Given the description of an element on the screen output the (x, y) to click on. 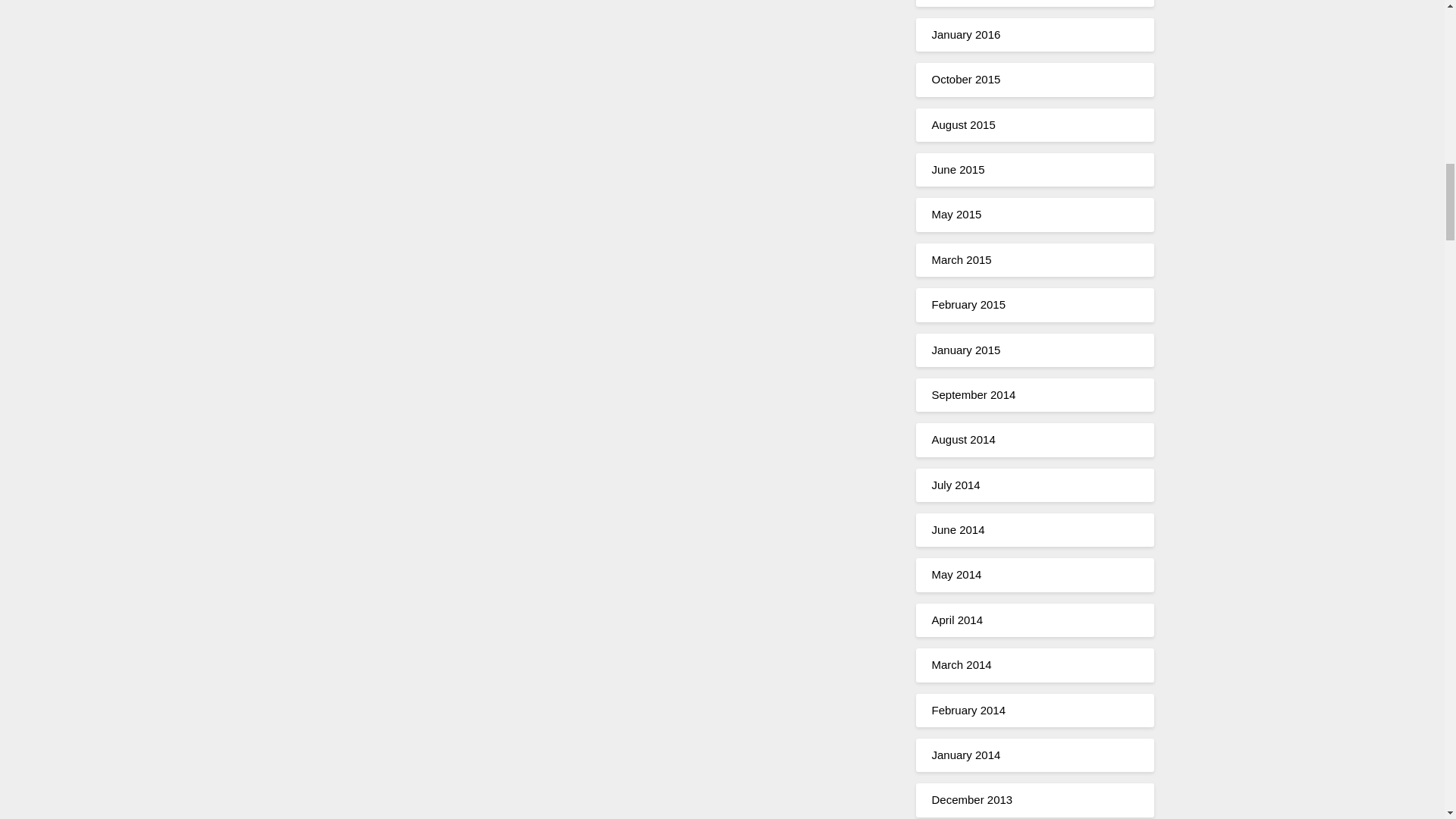
August 2015 (962, 124)
October 2015 (965, 78)
June 2015 (957, 169)
January 2016 (965, 33)
February 2015 (968, 304)
September 2014 (972, 394)
March 2015 (961, 259)
May 2015 (956, 214)
January 2015 (965, 349)
